Given the description of an element on the screen output the (x, y) to click on. 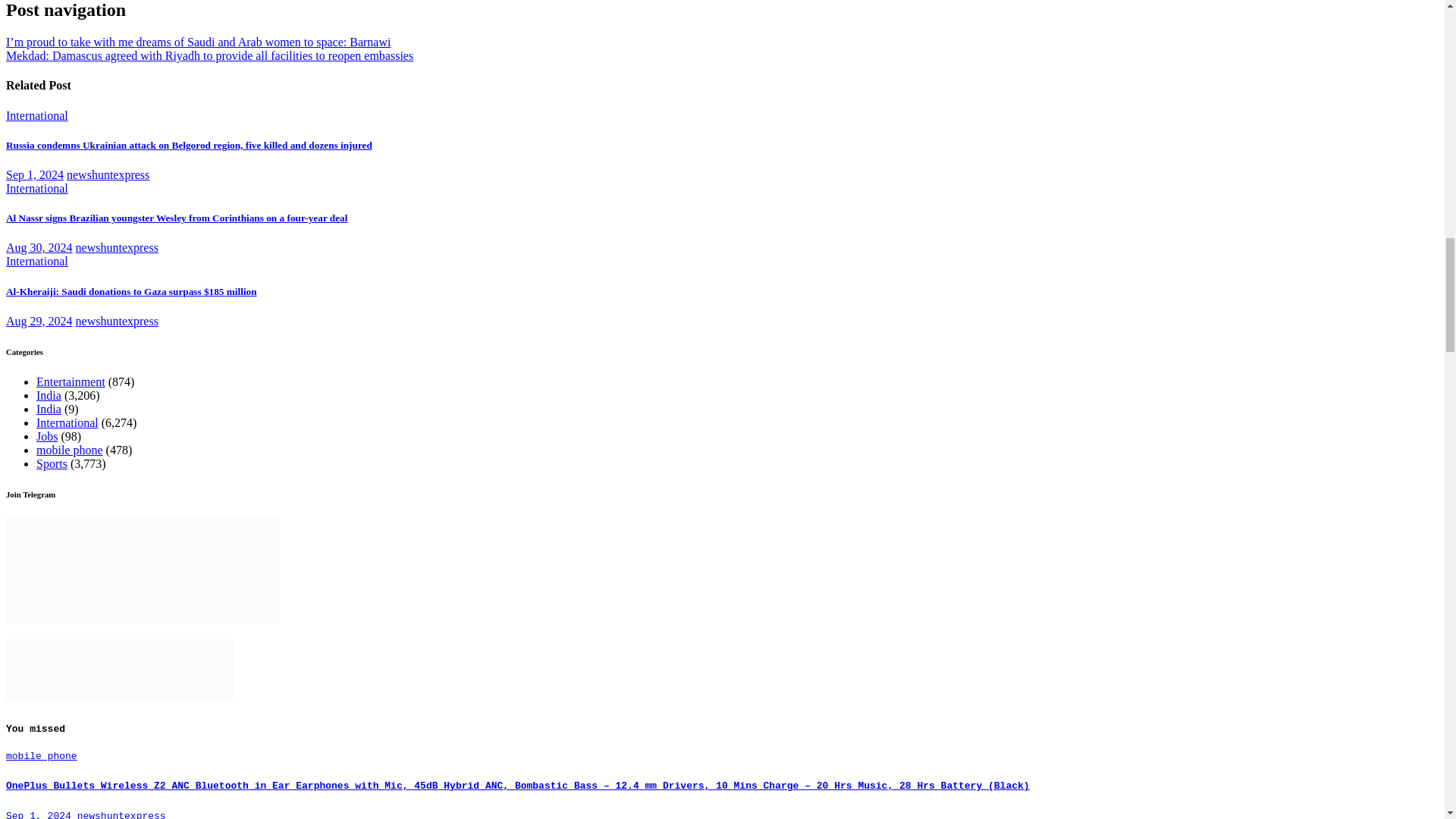
International (36, 187)
newshuntexpress (107, 174)
Sep 1, 2024 (34, 174)
International (36, 115)
